Given the description of an element on the screen output the (x, y) to click on. 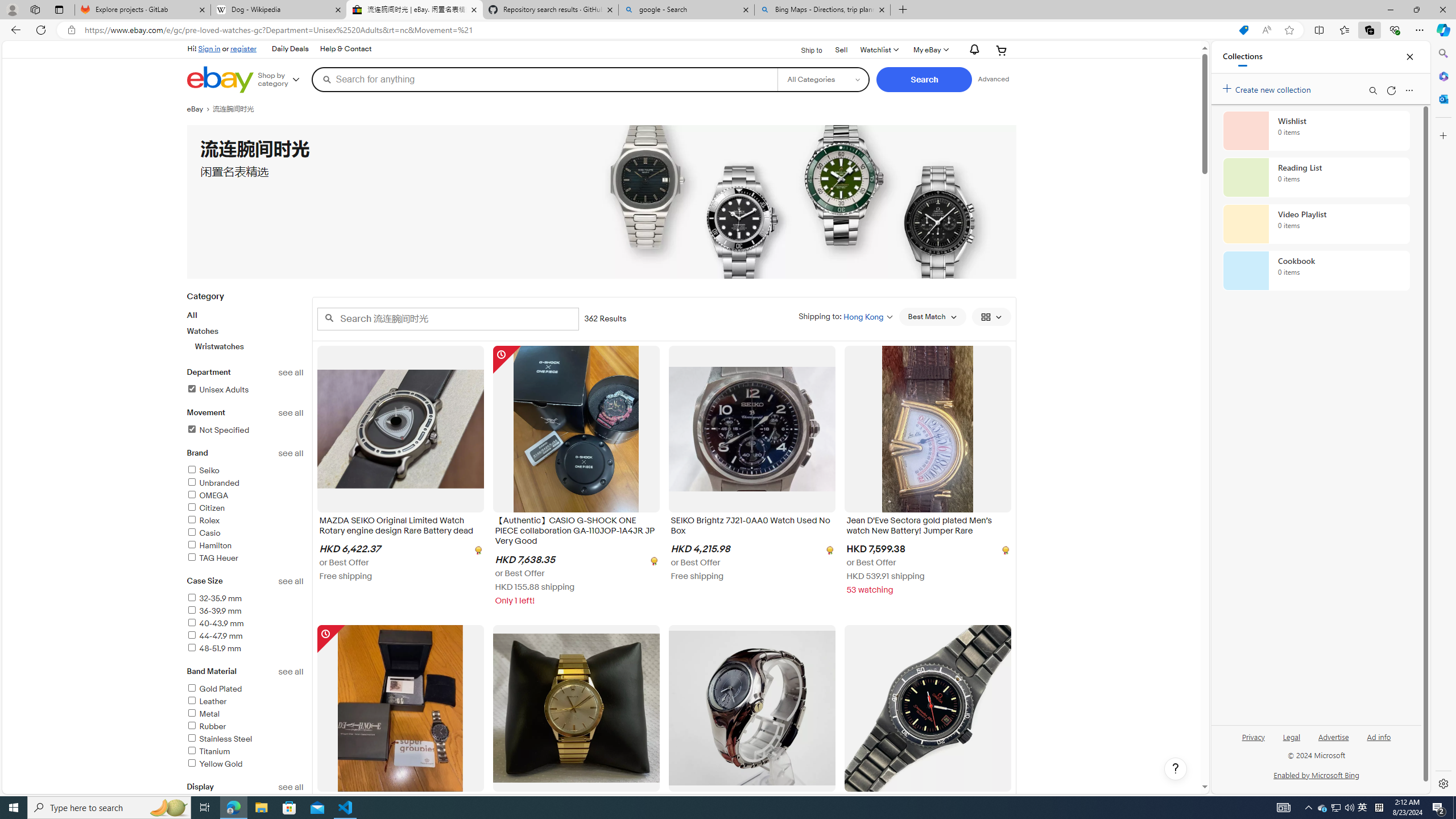
Shipping to: Hong Kong (845, 316)
Yellow Gold (245, 764)
36-39.9 mm (245, 611)
32-35.9 mm (213, 598)
Rubber (245, 726)
TAG Heuer (245, 558)
Your shopping cart (1001, 49)
Expand Cart (1001, 49)
Wristwatches (249, 346)
My eBay (930, 49)
